Given the description of an element on the screen output the (x, y) to click on. 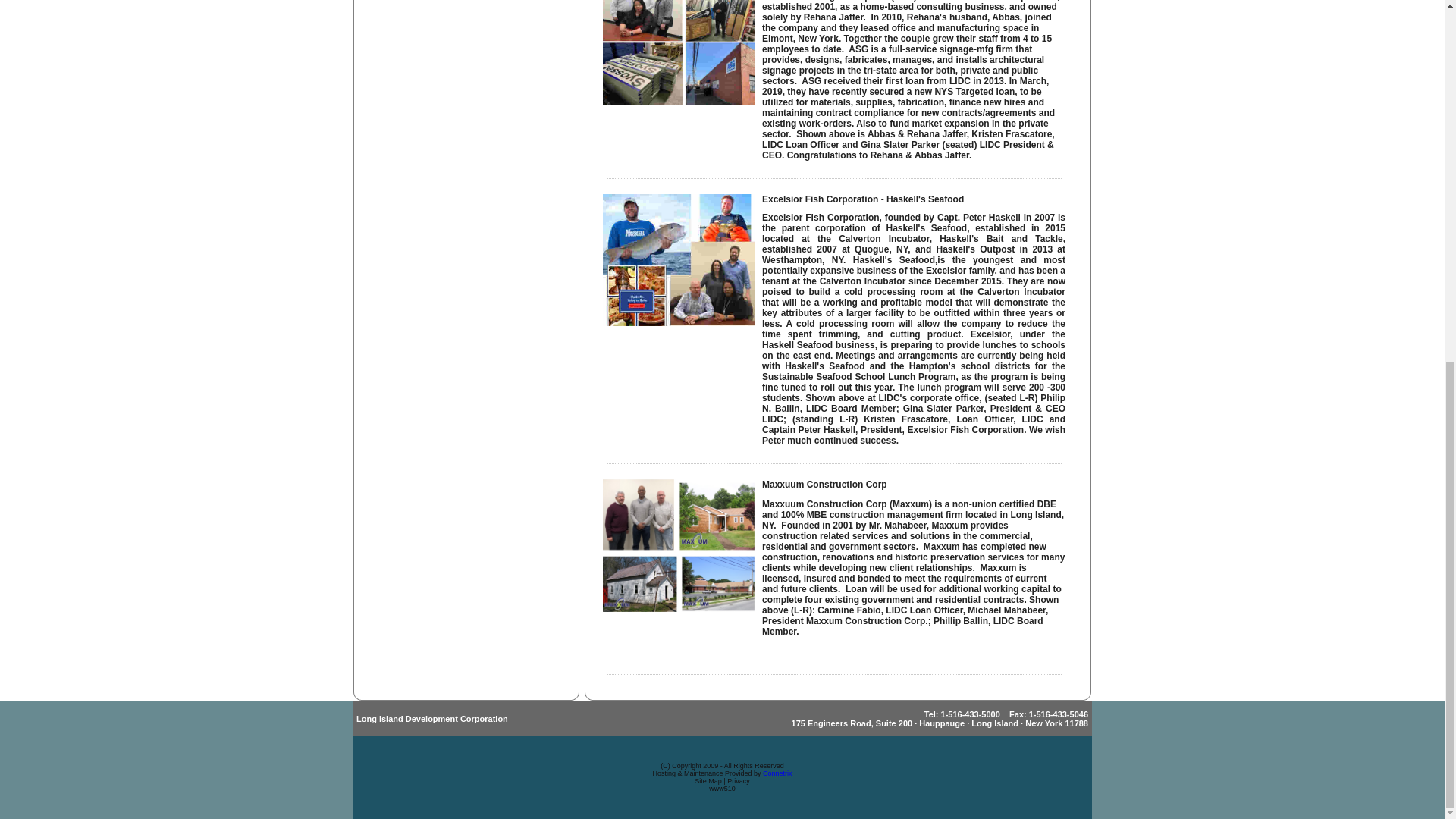
Connetrix (777, 773)
